Given the description of an element on the screen output the (x, y) to click on. 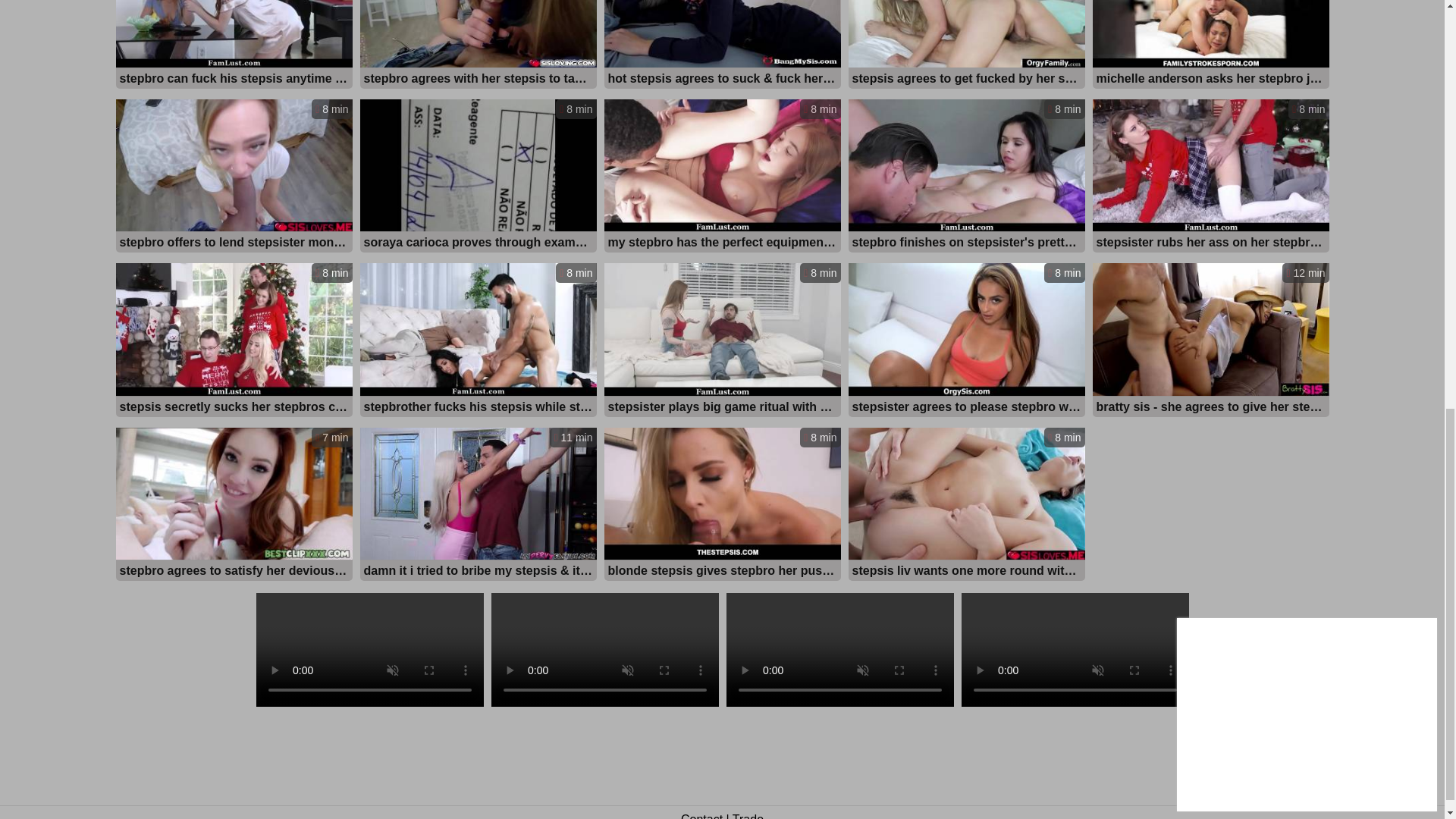
Stepbro offers to lend stepsister money in one condition (233, 241)
Bratty Sis - She Agrees To Give Her StepBro A Handjob S6:E12 (1209, 405)
Stepsister Agrees to Please Stepbro Whenever He Desires (965, 405)
